Given the description of an element on the screen output the (x, y) to click on. 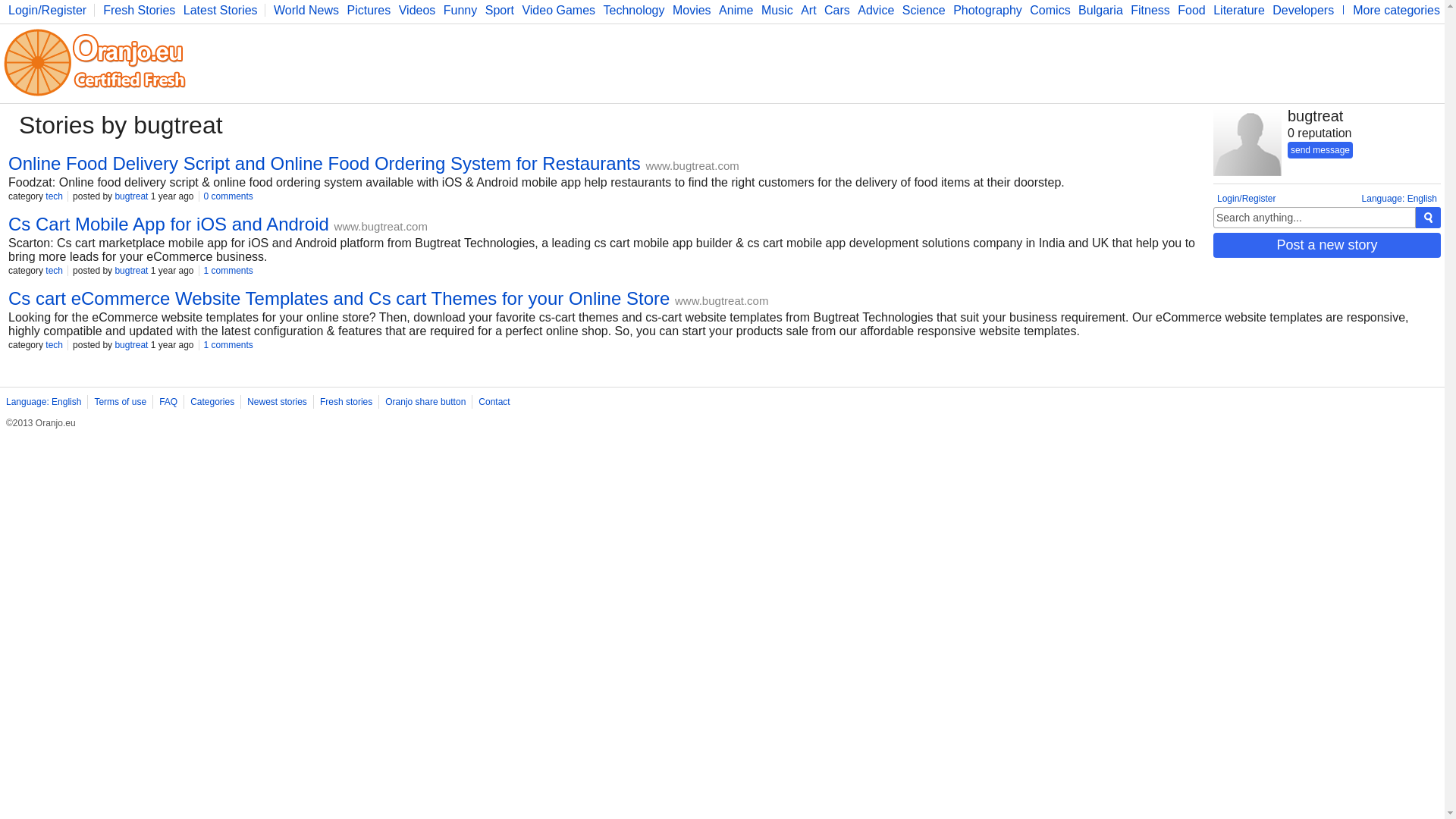
Funny (458, 10)
0 comments (228, 195)
Cars (834, 10)
send message (1319, 149)
Movies (689, 10)
Video Games (555, 10)
Language: English (1399, 198)
bugtreat (131, 195)
Search (1313, 217)
Search anything... (1313, 217)
Literature (1236, 10)
Pictures (366, 10)
Developers (1300, 10)
Videos (414, 10)
